Given the description of an element on the screen output the (x, y) to click on. 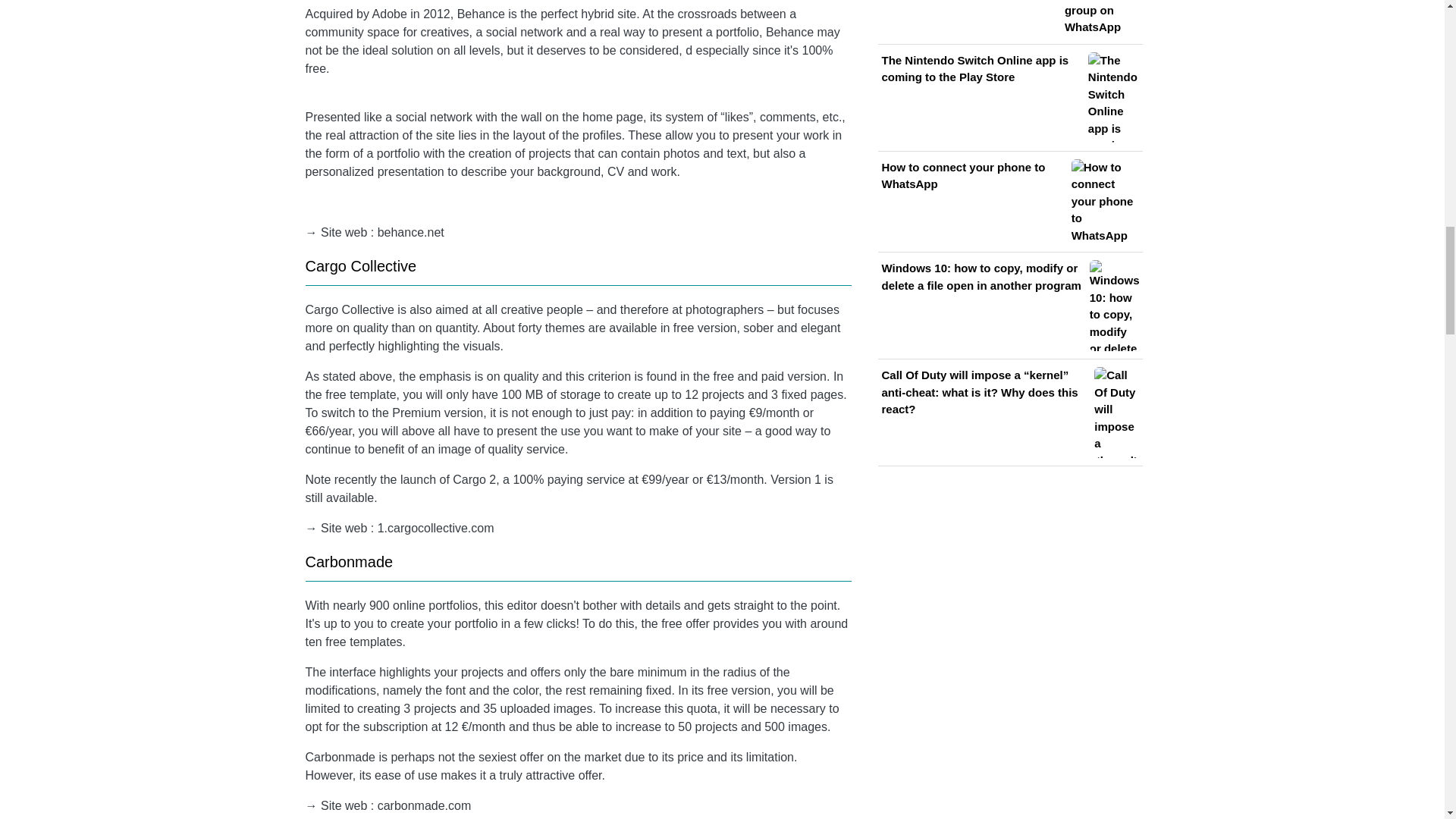
How to create a group on WhatsApp (1009, 18)
Behance (481, 13)
Behance (789, 31)
Cargo Collective (348, 309)
Cargo Collective (360, 265)
The Nintendo Switch Online app is coming to the Play Store (1009, 97)
